Given the description of an element on the screen output the (x, y) to click on. 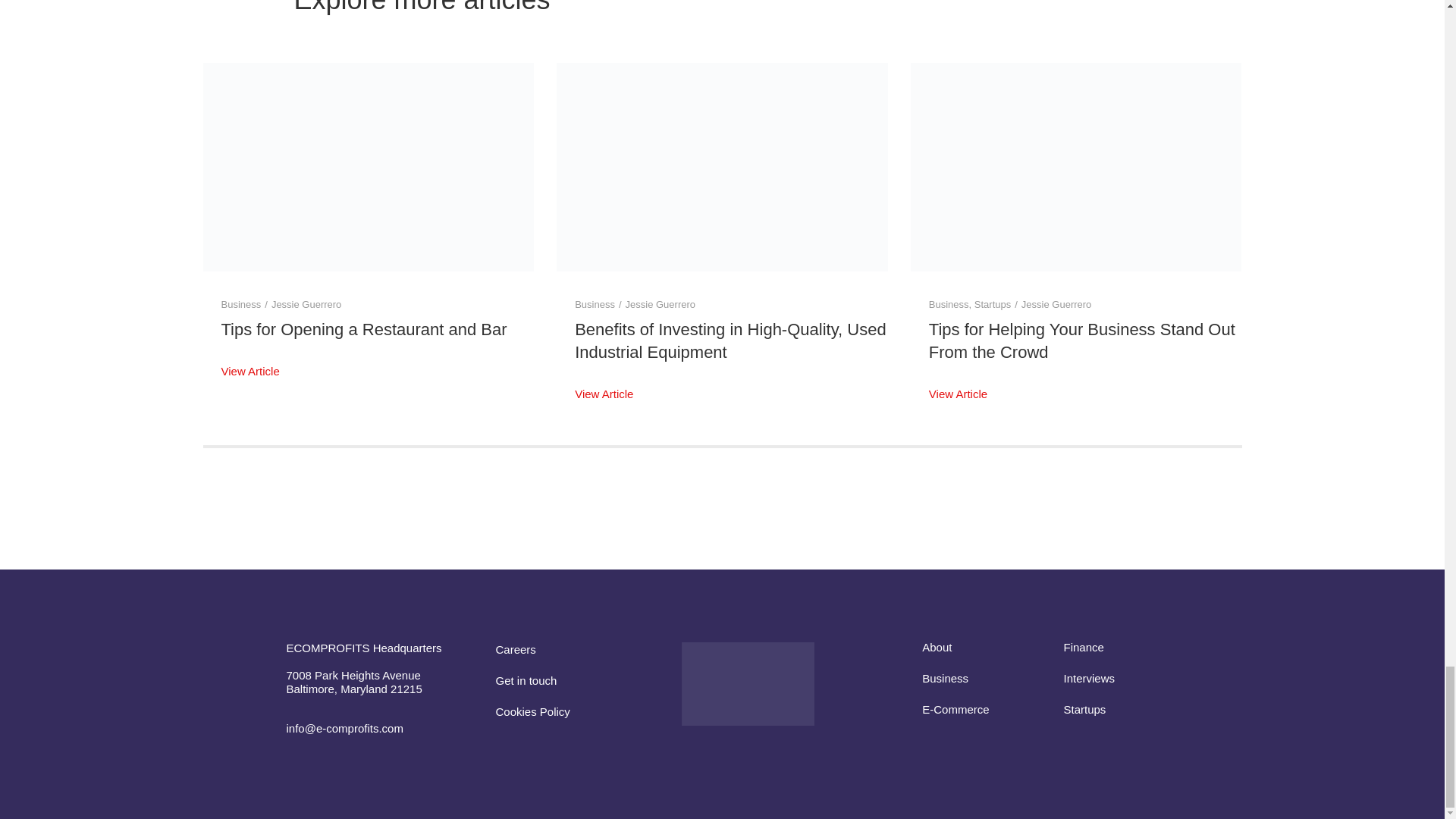
Business (594, 304)
Tips for Opening a Restaurant and Bar (363, 329)
View Article (250, 374)
Jessie Guerrero (305, 304)
Business (241, 304)
